Given the description of an element on the screen output the (x, y) to click on. 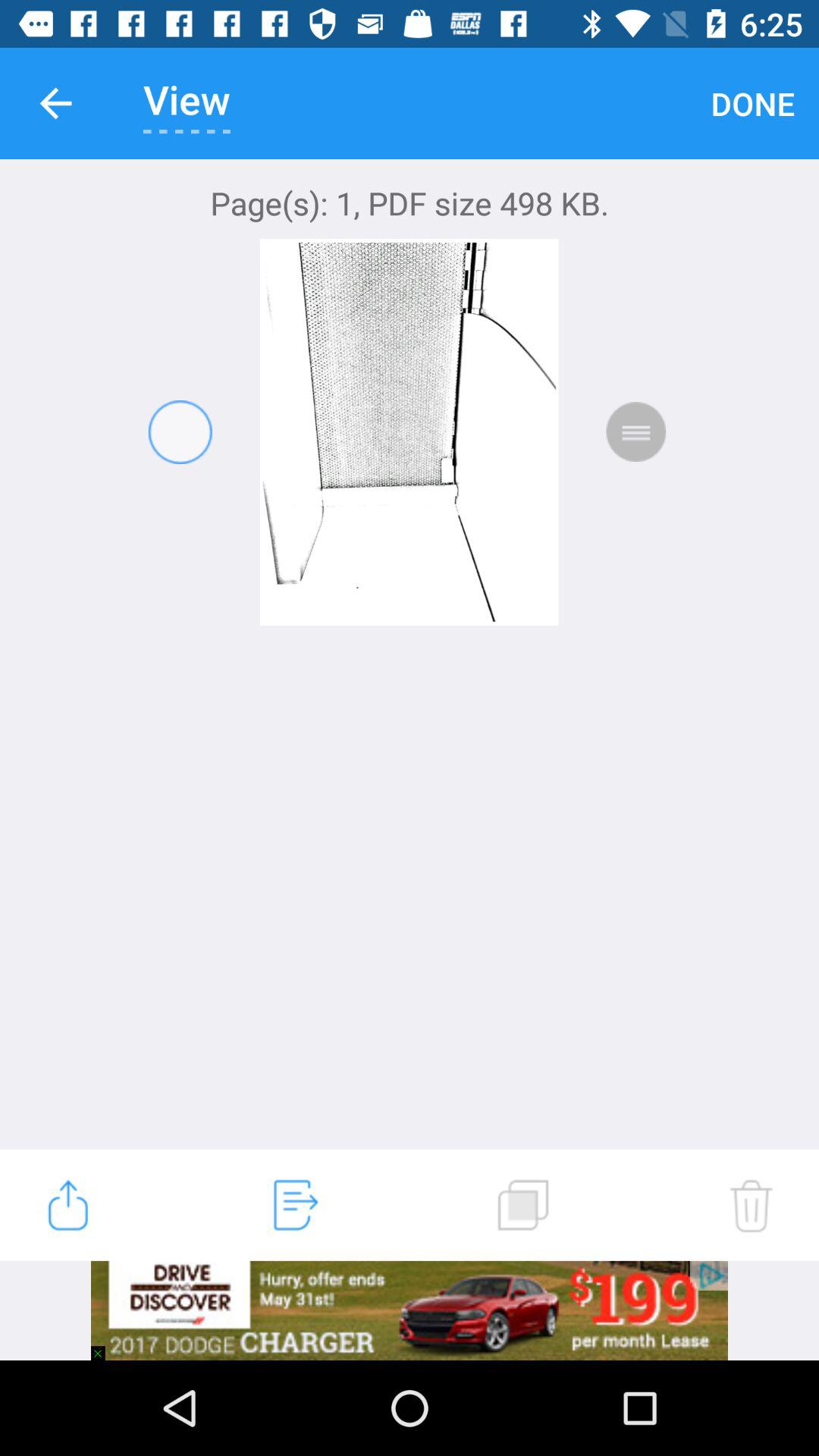
choose the item next to the view (753, 103)
